Given the description of an element on the screen output the (x, y) to click on. 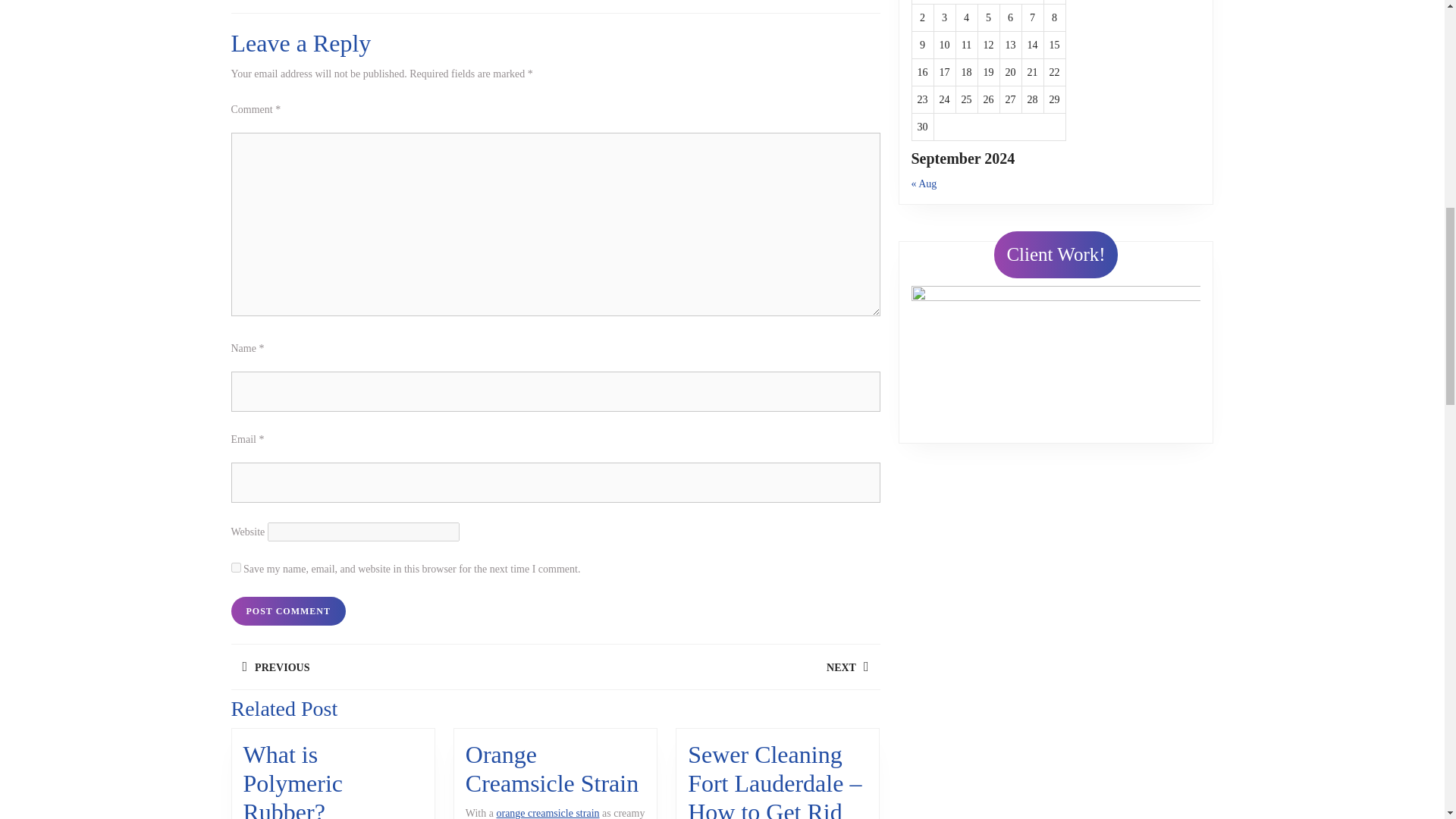
Post Comment (292, 780)
orange creamsicle strain (392, 666)
yes (287, 611)
Post Comment (547, 813)
